Given the description of an element on the screen output the (x, y) to click on. 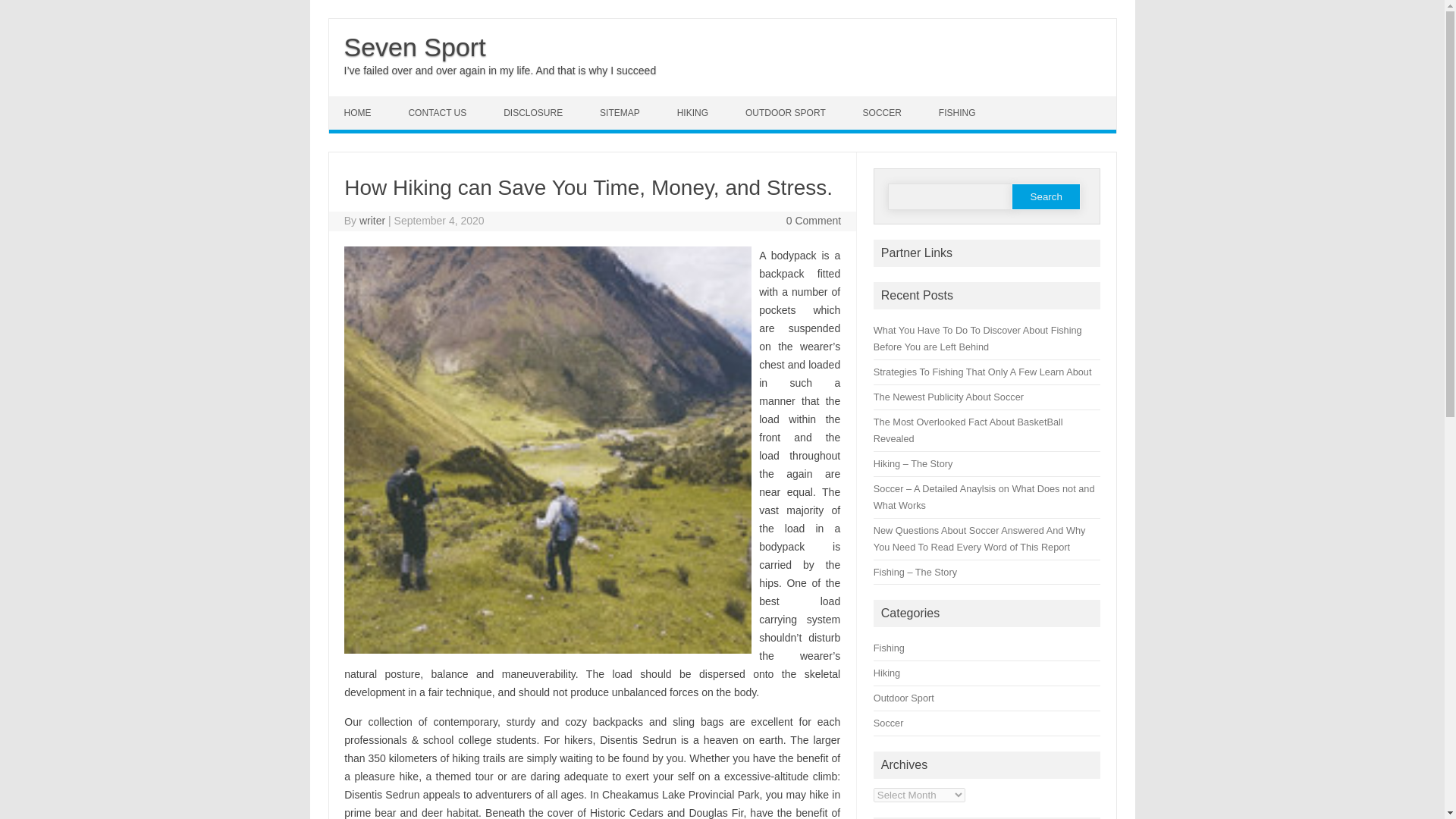
The Most Overlooked Fact About BasketBall Revealed (967, 430)
Fishing (888, 647)
Seven Sport (414, 46)
Skip to content (363, 101)
HIKING (694, 112)
Search (1045, 196)
OUTDOOR SPORT (787, 112)
Strategies To Fishing That Only A Few Learn About (982, 371)
writer (372, 220)
